Given the description of an element on the screen output the (x, y) to click on. 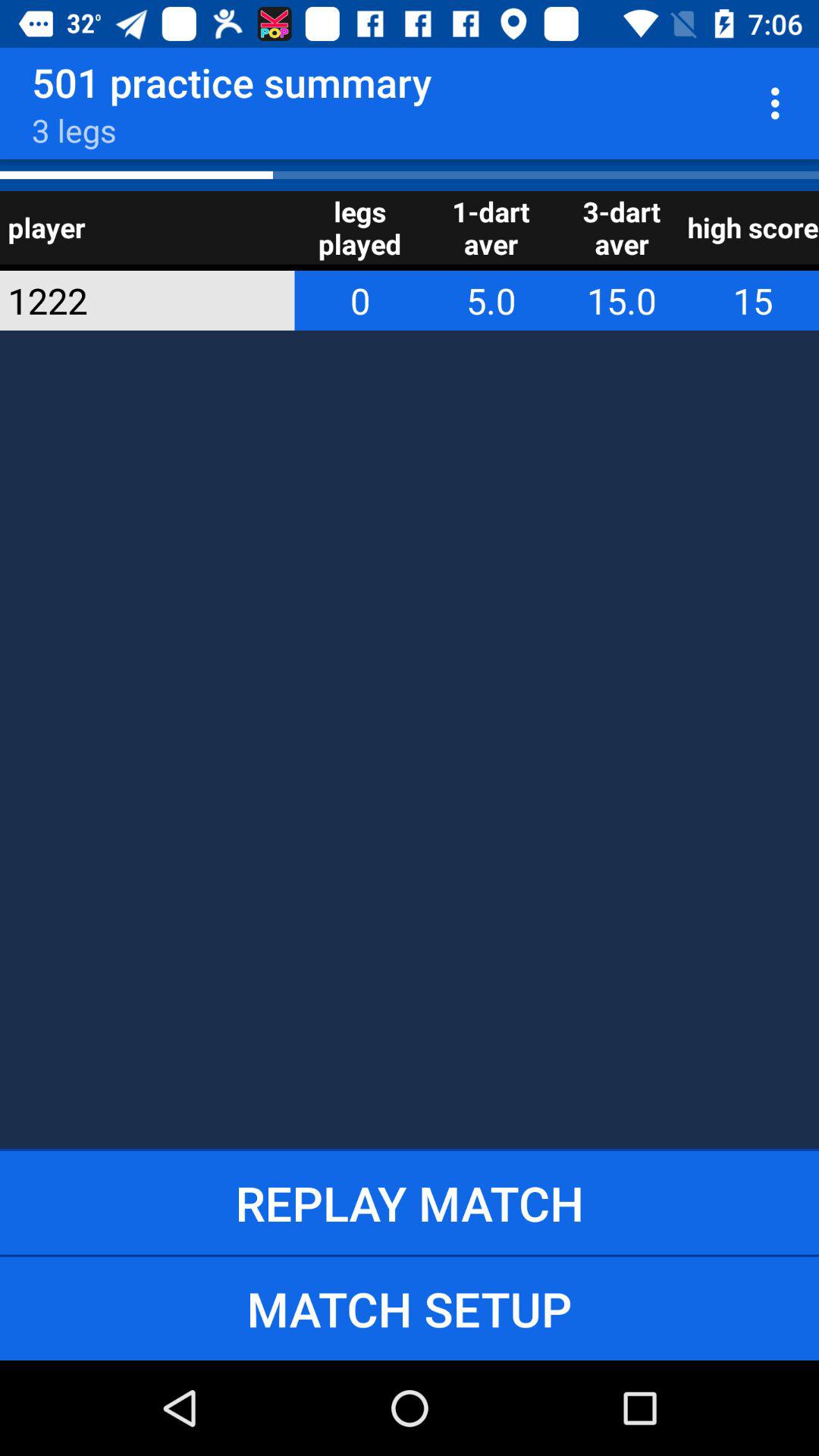
turn off match setup button (409, 1308)
